Given the description of an element on the screen output the (x, y) to click on. 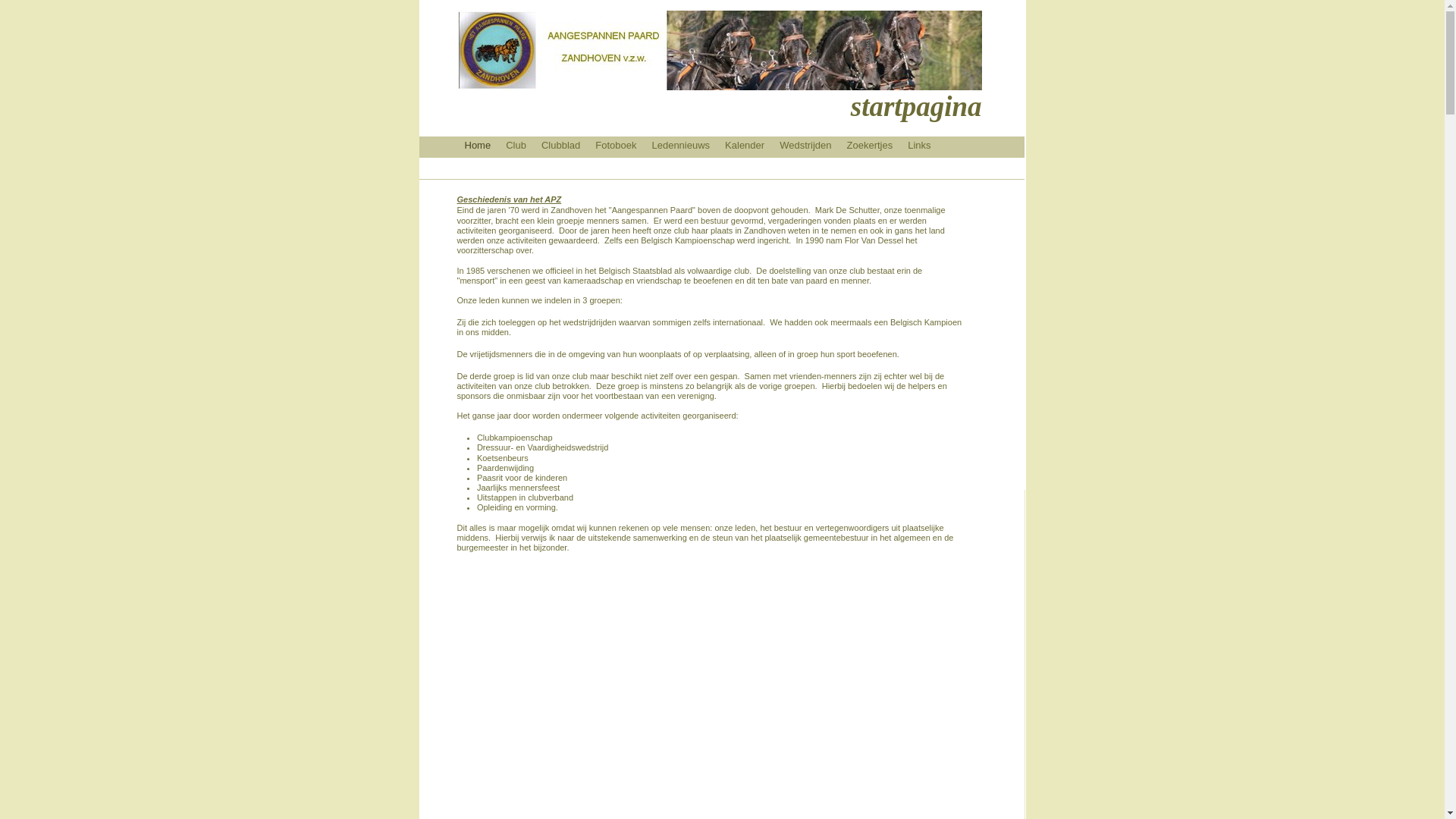
Club Element type: text (515, 144)
Zoekertjes Element type: text (869, 144)
Home Element type: text (477, 144)
Clubblad Element type: text (560, 144)
Fotoboek Element type: text (615, 144)
Ledennieuws Element type: text (680, 144)
Wedstrijden Element type: text (804, 144)
Kalender Element type: text (744, 144)
Links Element type: text (919, 144)
